Given the description of an element on the screen output the (x, y) to click on. 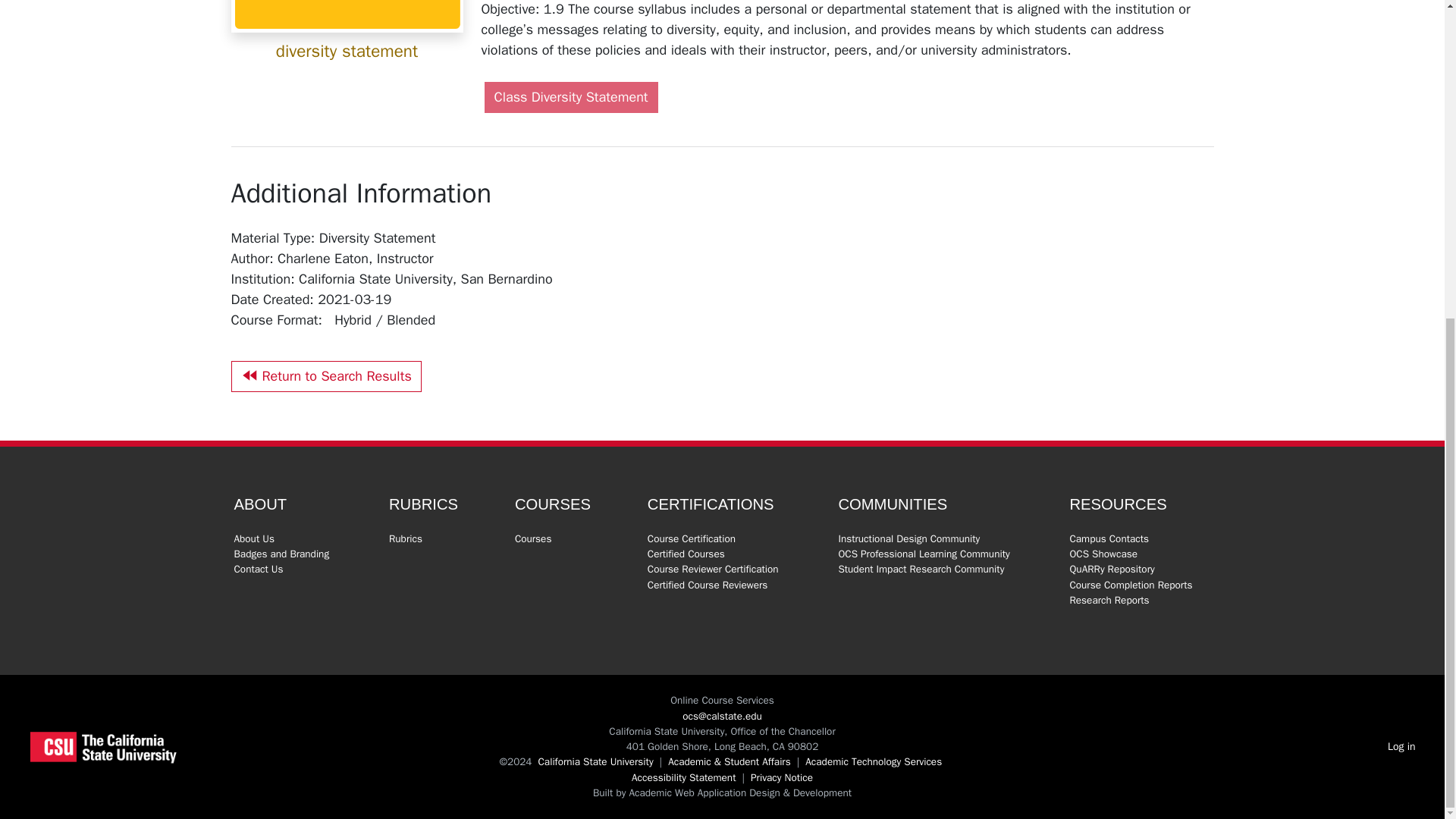
Rubrics (405, 538)
About Us (253, 538)
Class Diversity Statement (570, 97)
Courses (533, 538)
Course Reviewer Certification (713, 569)
Return to Search Results (325, 376)
Course Certification (691, 538)
Contact Us (257, 569)
Badges and Branding (280, 554)
Certified Courses (686, 554)
